Given the description of an element on the screen output the (x, y) to click on. 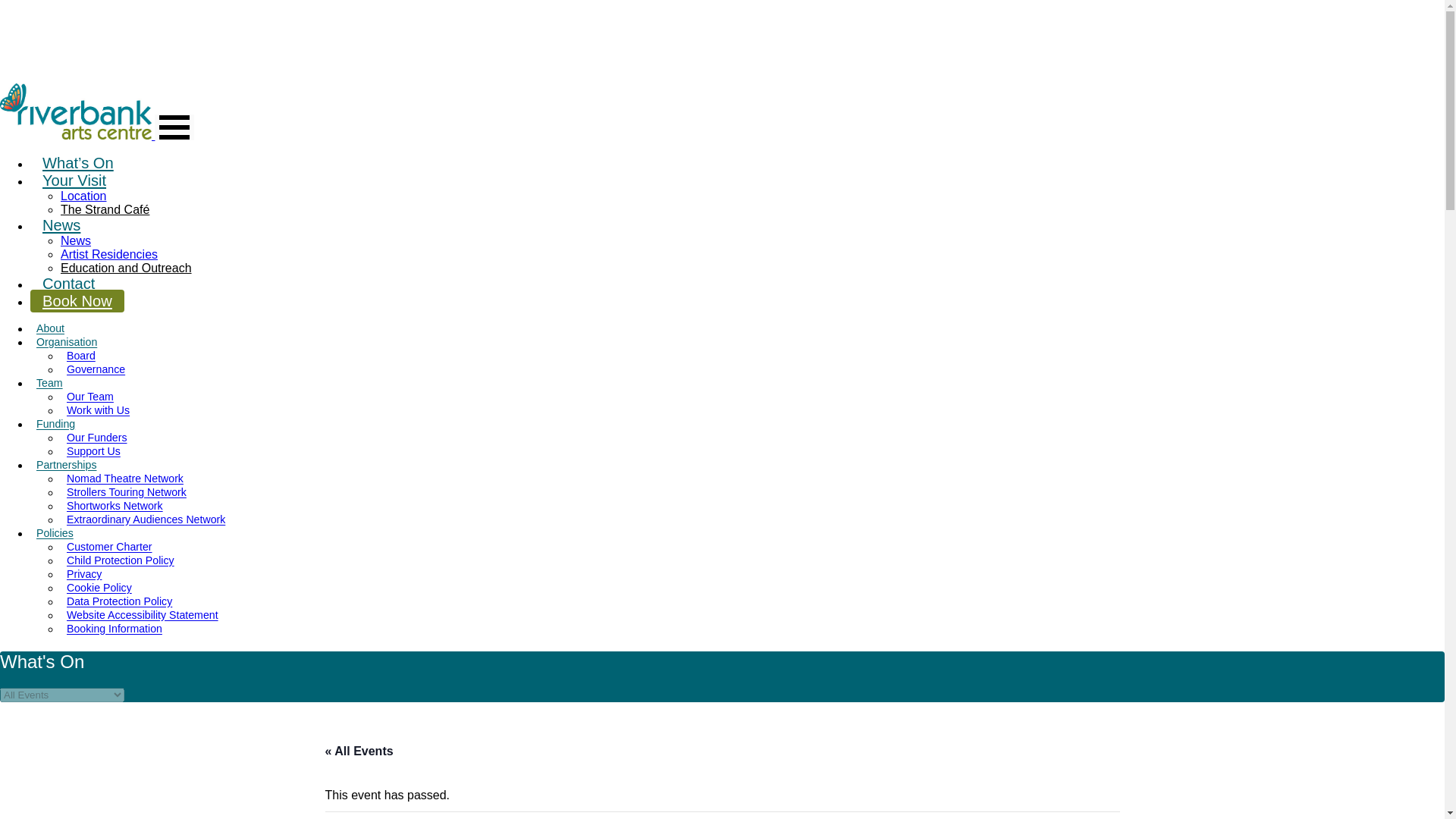
Board (81, 355)
Governance (96, 369)
Nomad Theatre Network (125, 478)
Funding (55, 424)
Customer Charter (109, 546)
Data Protection Policy (119, 601)
Extraordinary Audiences Network (146, 519)
Privacy (84, 574)
Policies (55, 533)
Website Accessibility Statement (142, 615)
